Given the description of an element on the screen output the (x, y) to click on. 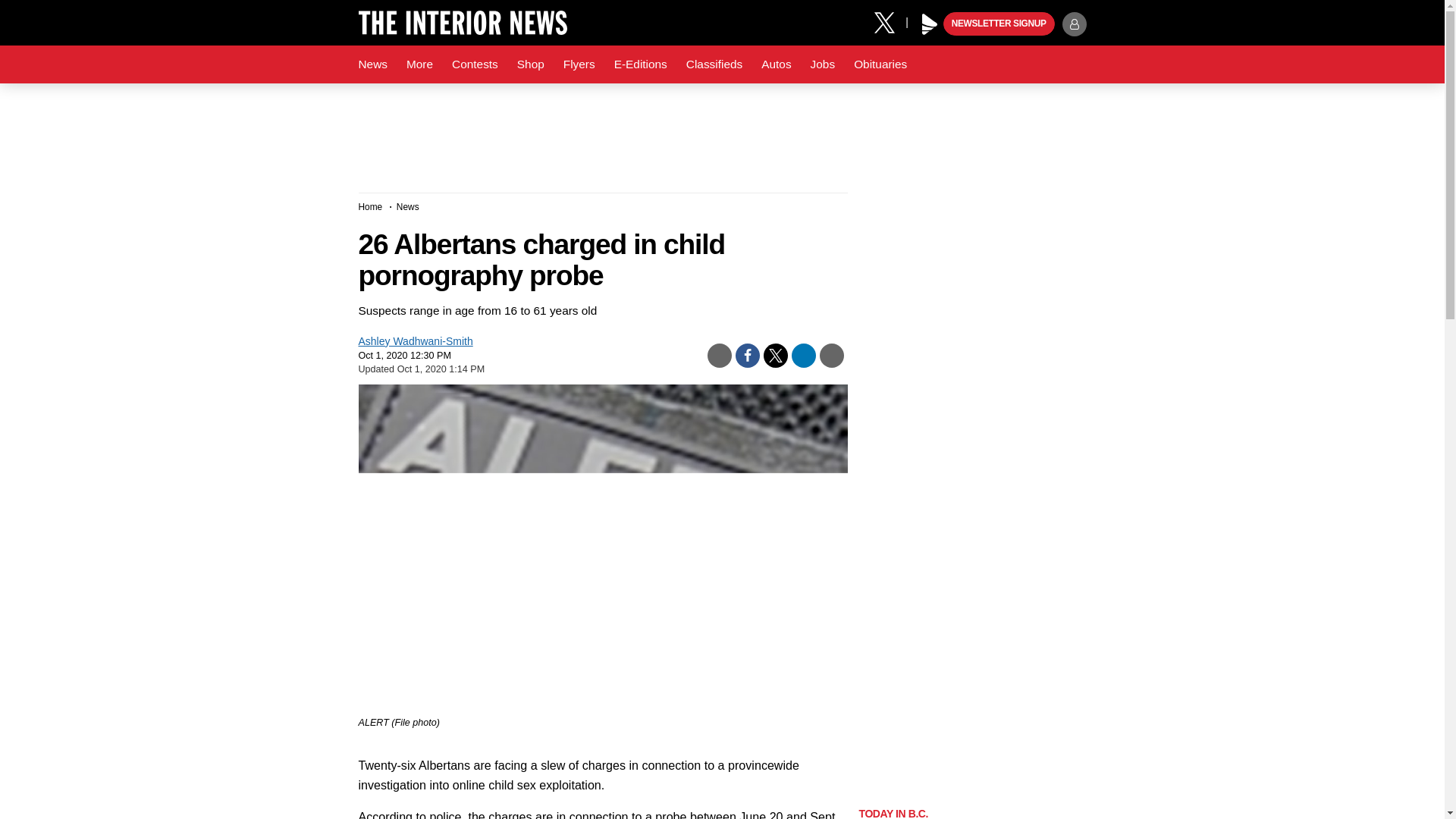
News (372, 64)
X (889, 21)
NEWSLETTER SIGNUP (998, 24)
Black Press Media (929, 24)
Play (929, 24)
